Given the description of an element on the screen output the (x, y) to click on. 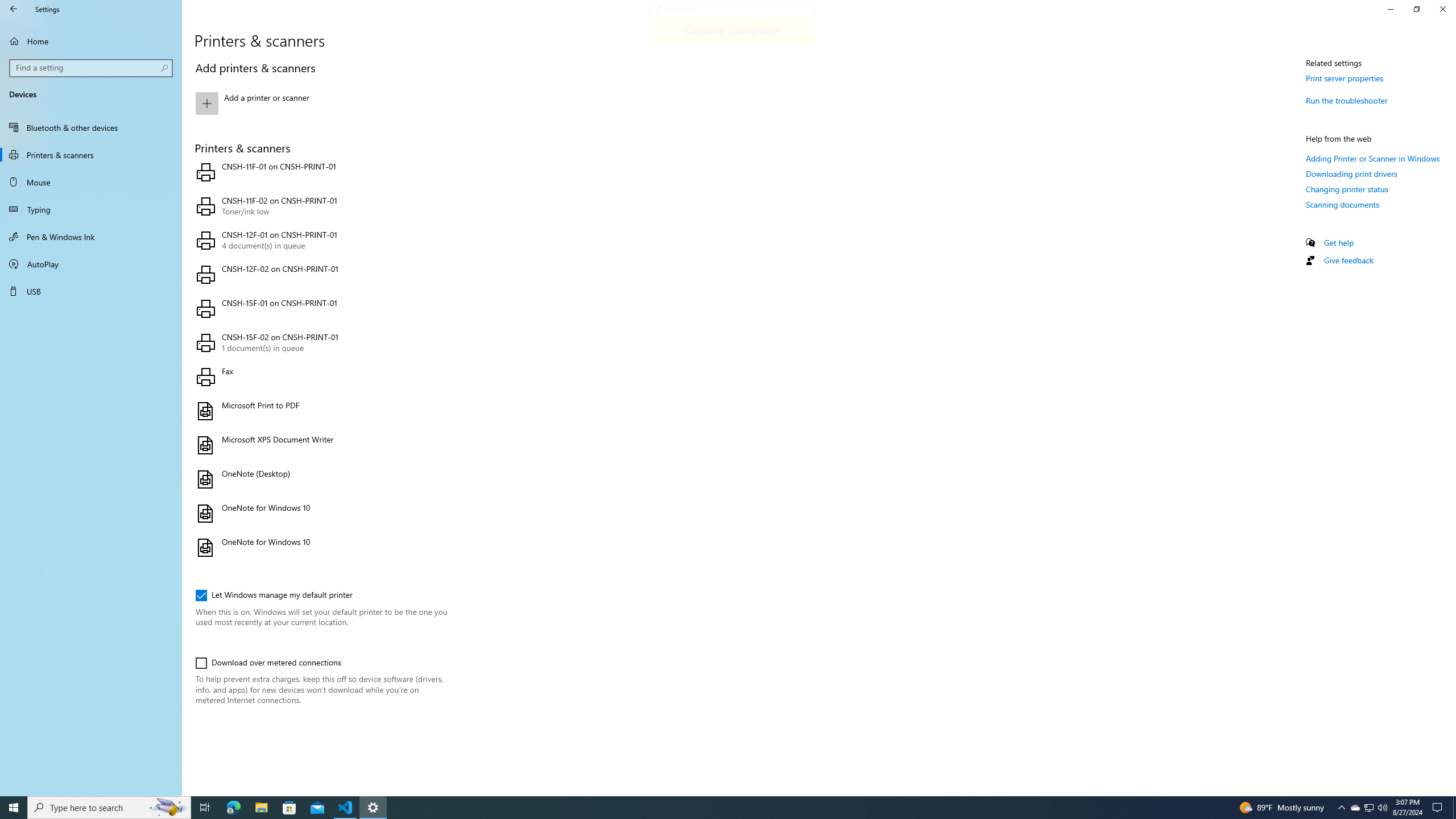
Pen & Windows Ink (91, 236)
Download over metered connections (268, 663)
Changing printer status (1347, 188)
Let Windows manage my default printer (273, 595)
Microsoft XPS Document Writer (319, 445)
Mouse (91, 181)
Run the troubleshooter (1346, 100)
Print server properties (1344, 77)
